Given the description of an element on the screen output the (x, y) to click on. 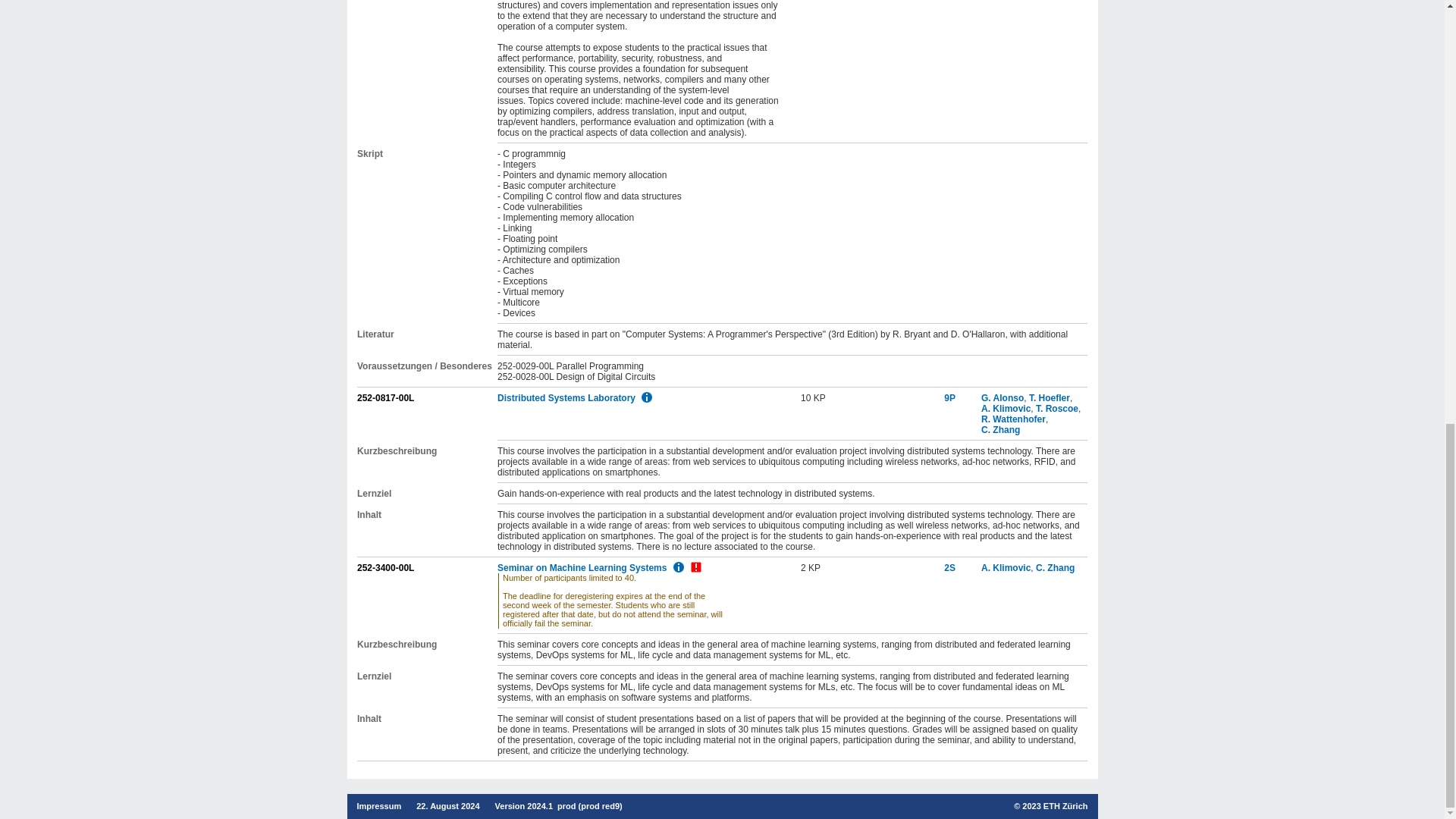
A. Klimovic (1005, 567)
Information (646, 397)
G. Alonso (1002, 398)
T. Hoefler (1049, 398)
9P (949, 398)
2S (949, 567)
Information (678, 567)
Distributed Systems Laboratory (565, 398)
Seminar on Machine Learning Systems (581, 567)
C. Zhang (1000, 429)
